Given the description of an element on the screen output the (x, y) to click on. 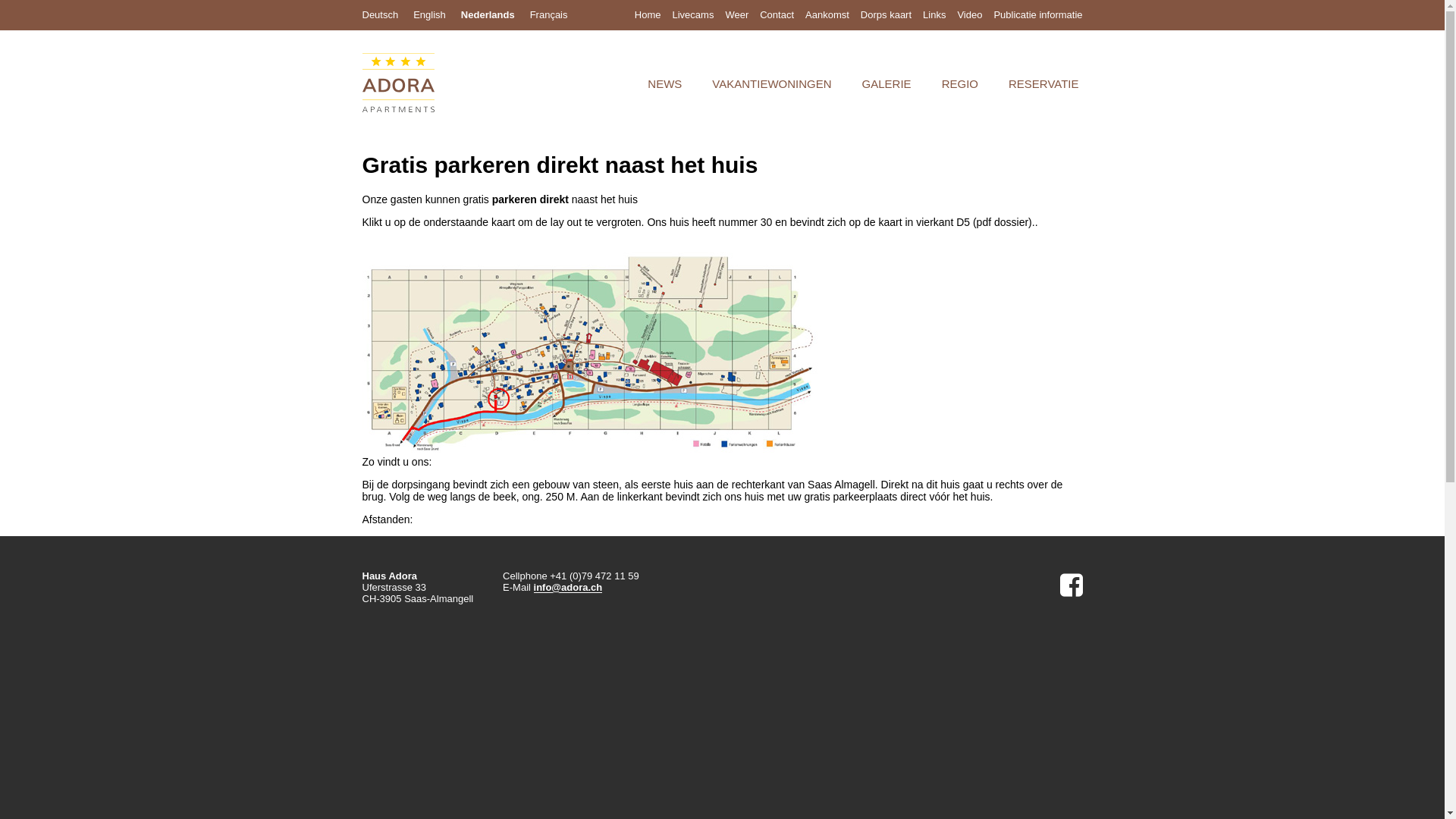
Nederlands Element type: text (487, 14)
VAKANTIEWONINGEN Element type: text (771, 83)
Contact Element type: text (776, 14)
REGIO Element type: text (959, 83)
Dorps kaart Element type: text (885, 14)
GALERIE Element type: text (886, 83)
Livecams Element type: text (692, 14)
info@adora.ch Element type: text (567, 588)
Home Element type: text (647, 14)
RESERVATIE Element type: text (1043, 83)
Aankomst Element type: text (827, 14)
Publicatie informatie Element type: text (1037, 14)
Links Element type: text (933, 14)
Weer Element type: text (736, 14)
Video Element type: text (969, 14)
NEWS Element type: text (664, 83)
Deutsch Element type: text (380, 14)
English Element type: text (429, 14)
